Given the description of an element on the screen output the (x, y) to click on. 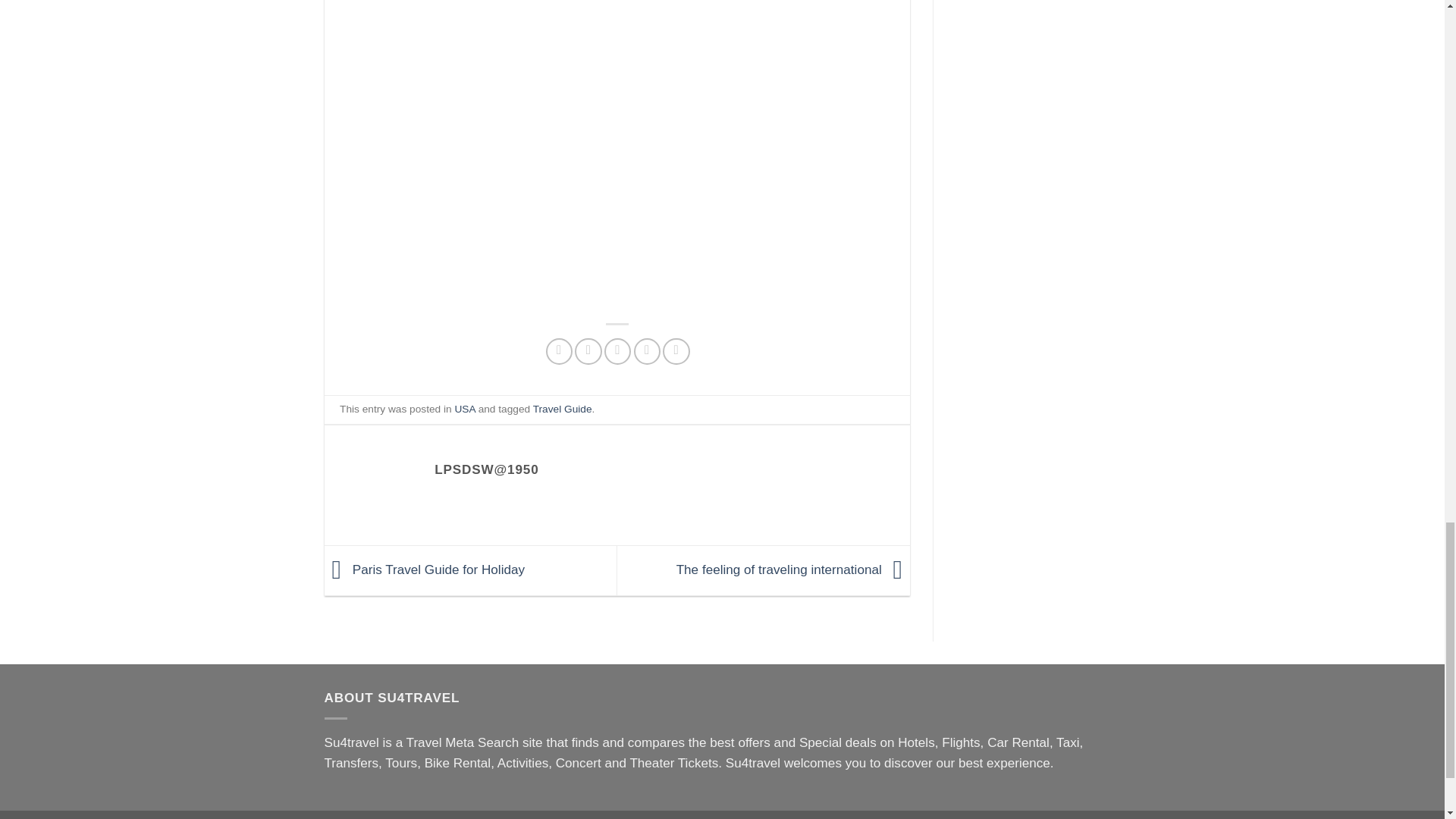
Share on Facebook (559, 351)
Share on LinkedIn (675, 351)
Share on Twitter (588, 351)
Email to a Friend (617, 351)
USA (464, 408)
Pin on Pinterest (647, 351)
